Given the description of an element on the screen output the (x, y) to click on. 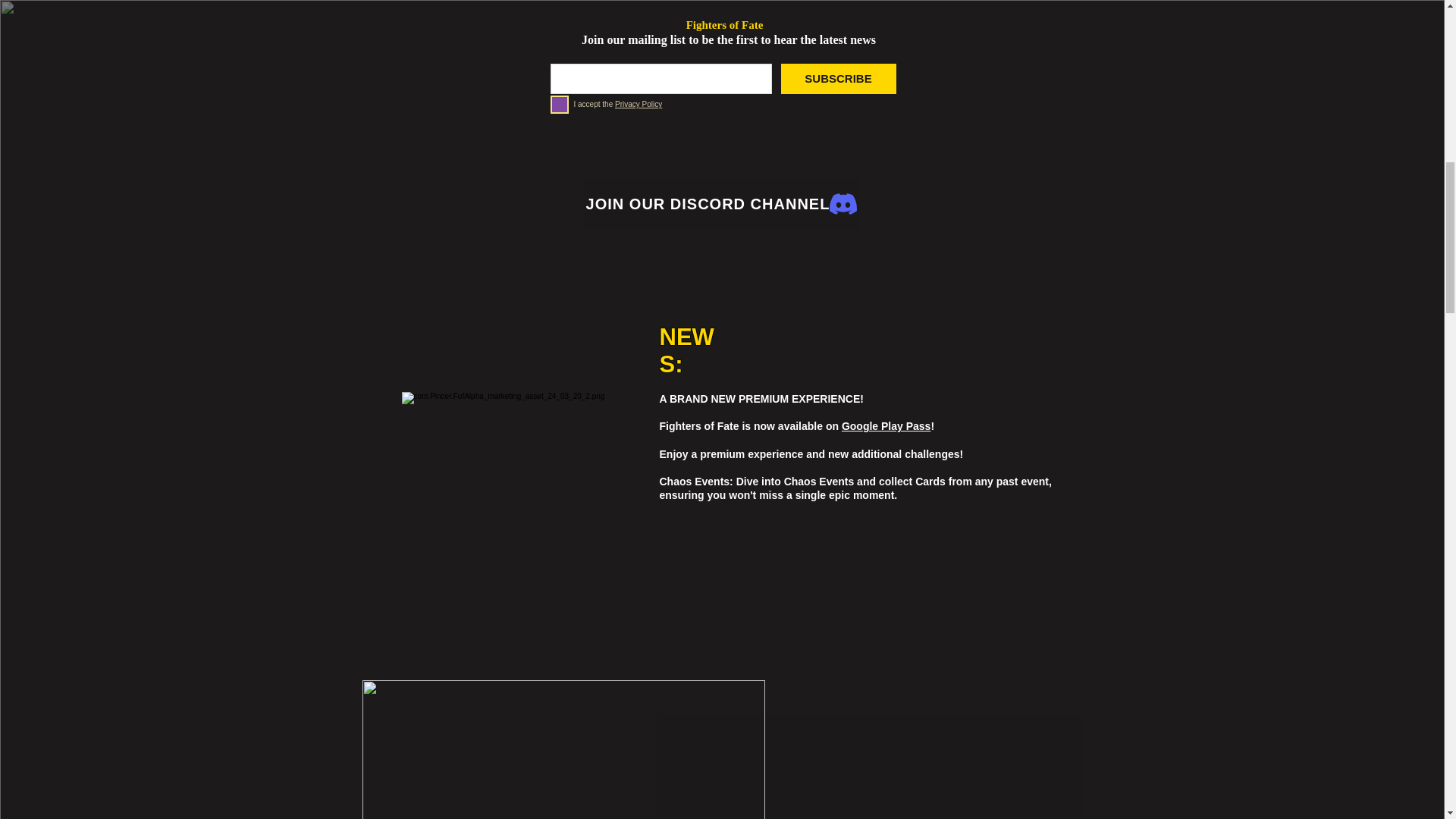
JOIN OUR DISCORD CHANNEL (721, 204)
Google Play Pass (886, 426)
SUBSCRIBE (838, 78)
Privacy Policy (638, 103)
